Given the description of an element on the screen output the (x, y) to click on. 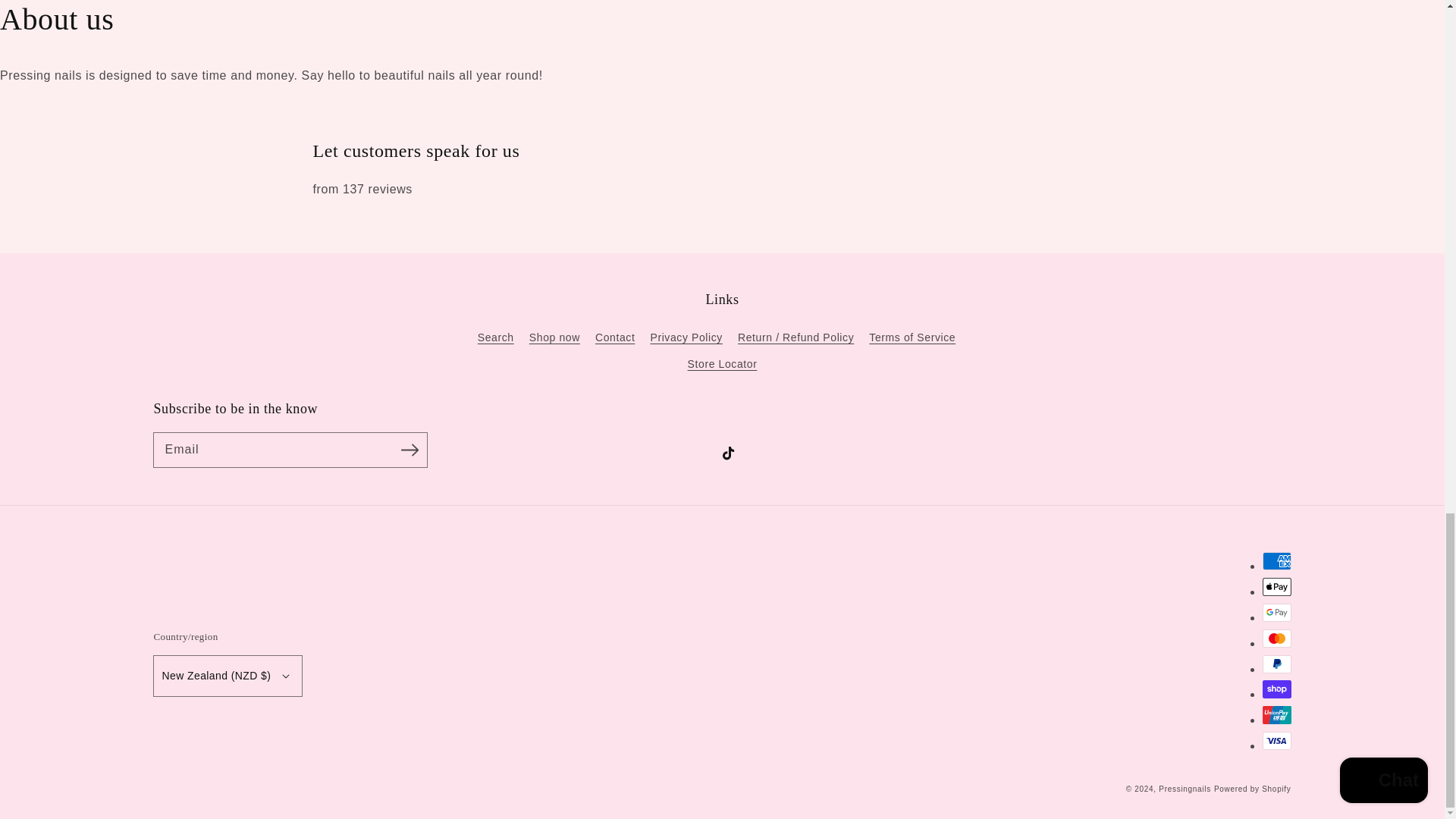
Shop Pay (1276, 689)
PayPal (1276, 664)
Union Pay (1276, 714)
Google Pay (1276, 612)
Visa (1276, 741)
Apple Pay (1276, 587)
Mastercard (1276, 638)
American Express (1276, 561)
